Given the description of an element on the screen output the (x, y) to click on. 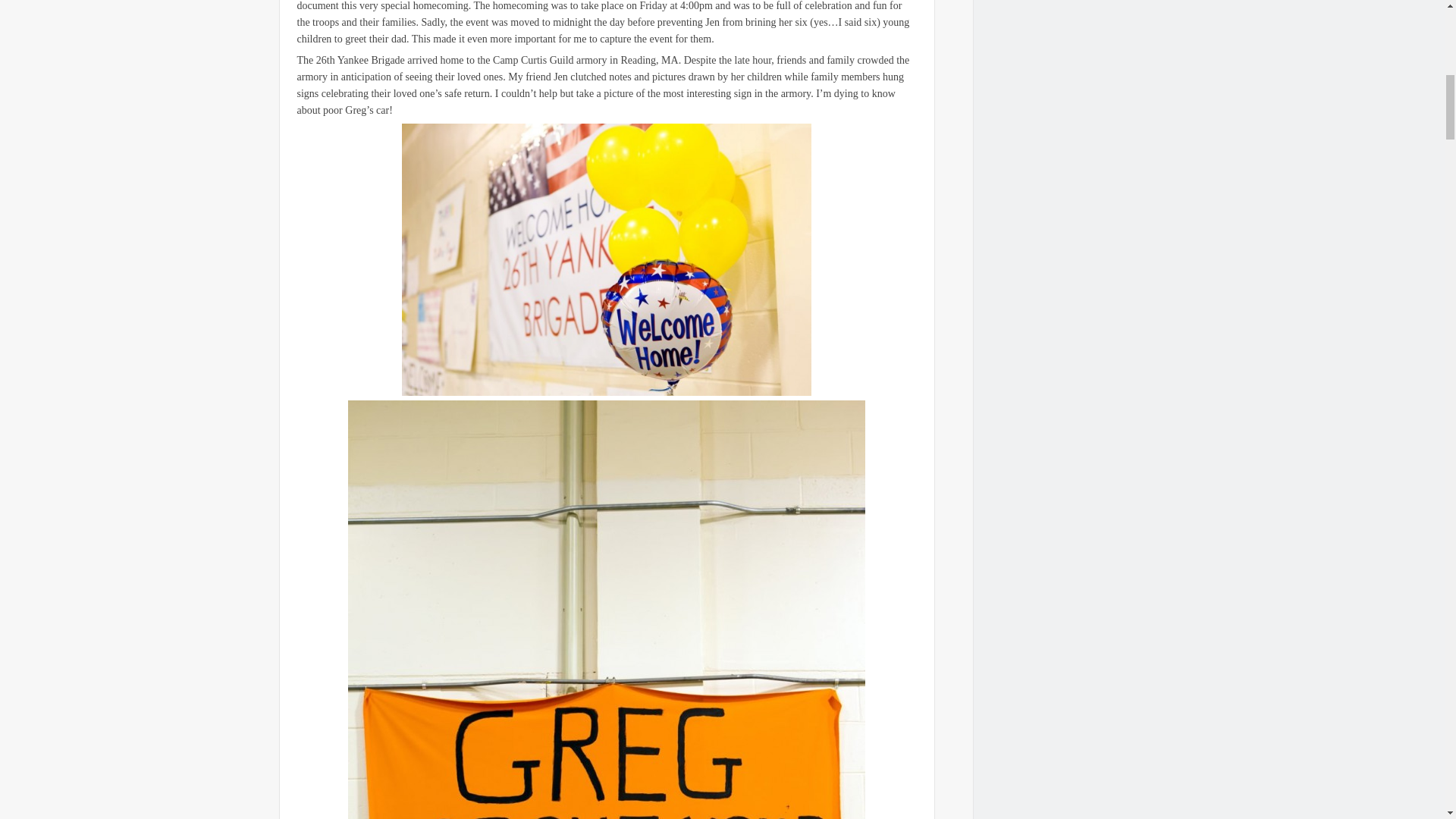
LeeHomecoming-1001 (605, 259)
